Given the description of an element on the screen output the (x, y) to click on. 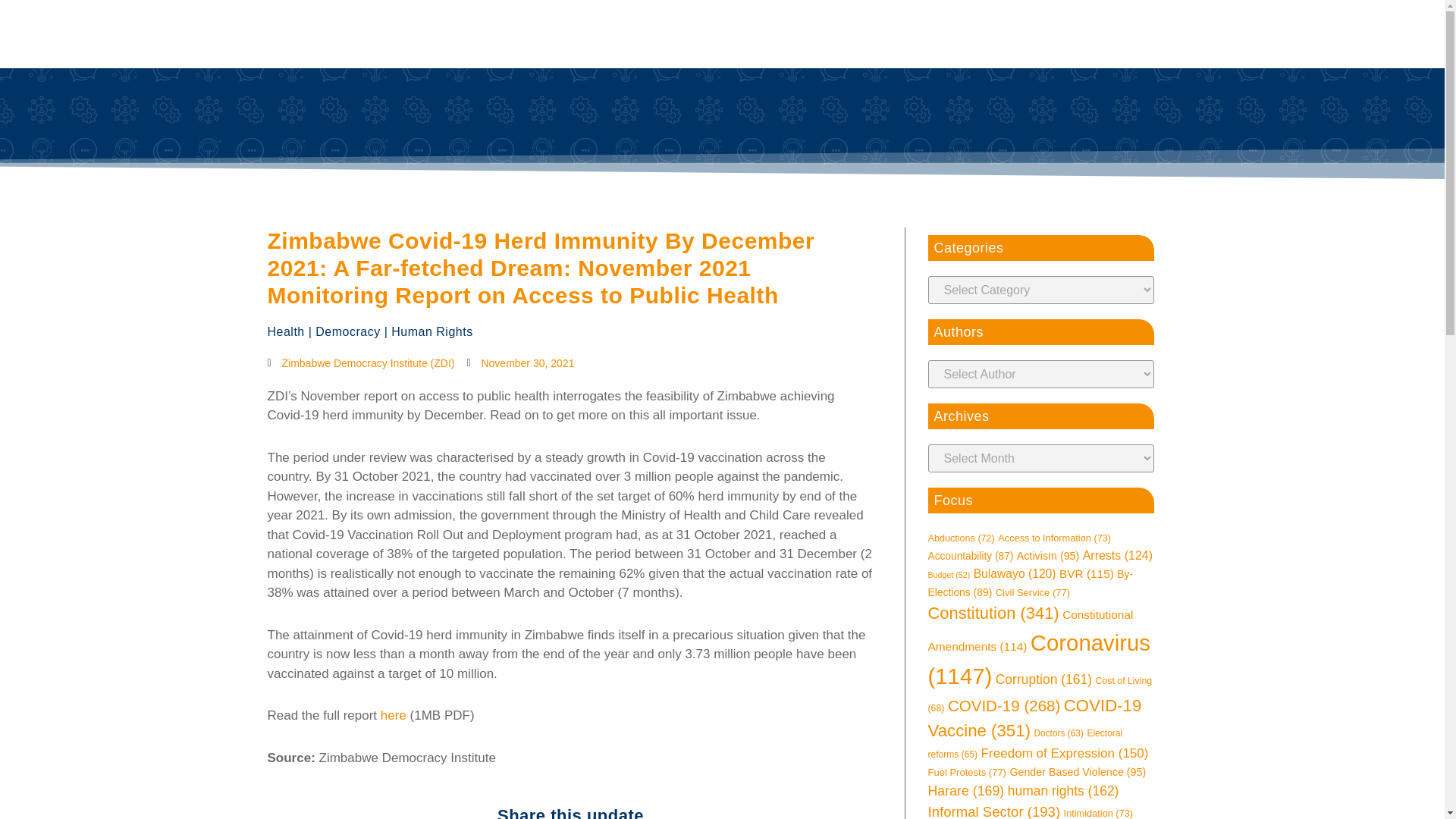
Democracy (347, 331)
November 30, 2021 (519, 363)
Human Rights (431, 331)
Health (285, 331)
here (393, 715)
